Given the description of an element on the screen output the (x, y) to click on. 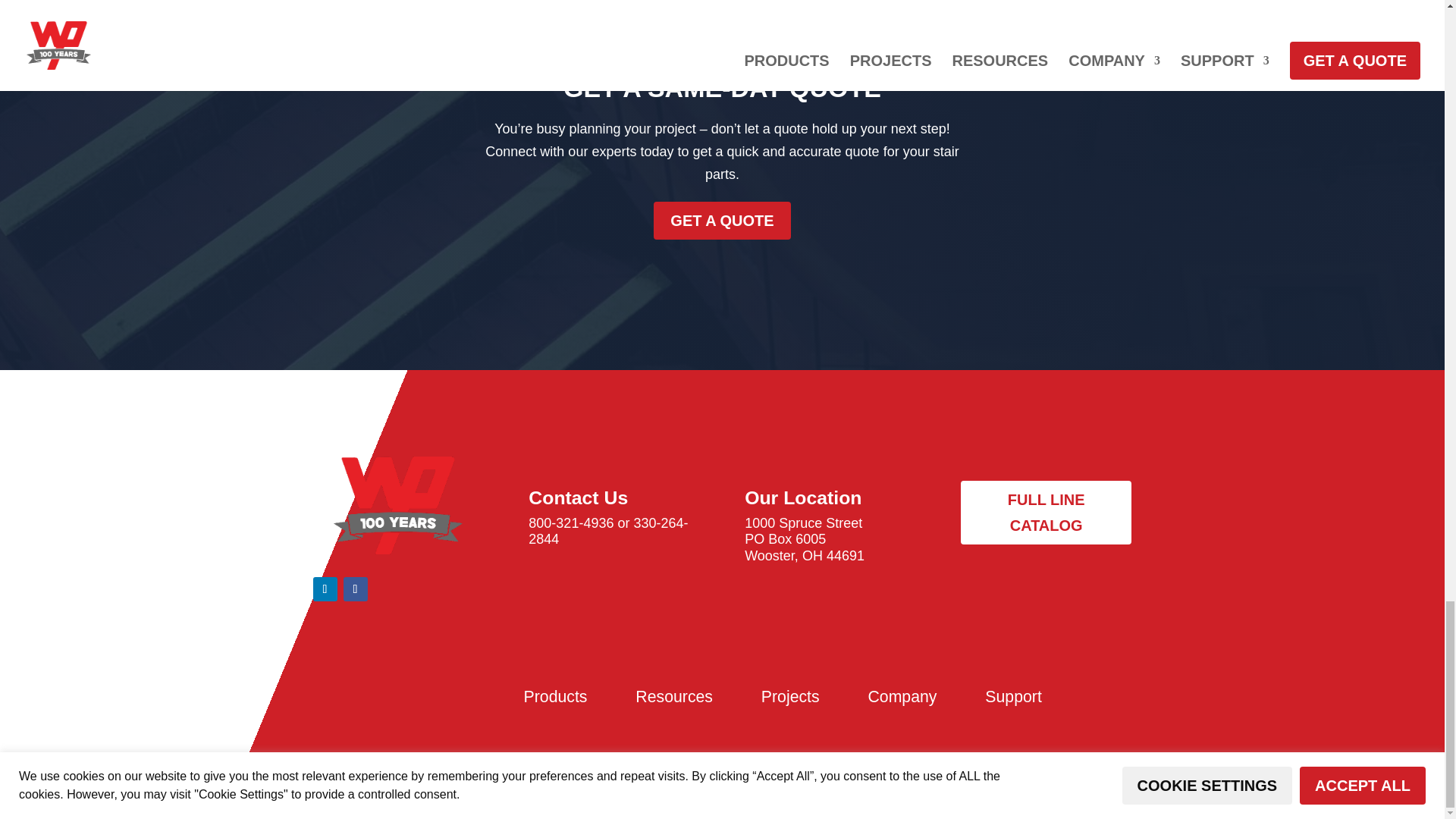
logo (398, 505)
330-264-2844 (607, 531)
800-321-4936 (570, 522)
Follow on Facebook (354, 589)
GET A QUOTE (721, 220)
Follow on LinkedIn (324, 589)
